Given the description of an element on the screen output the (x, y) to click on. 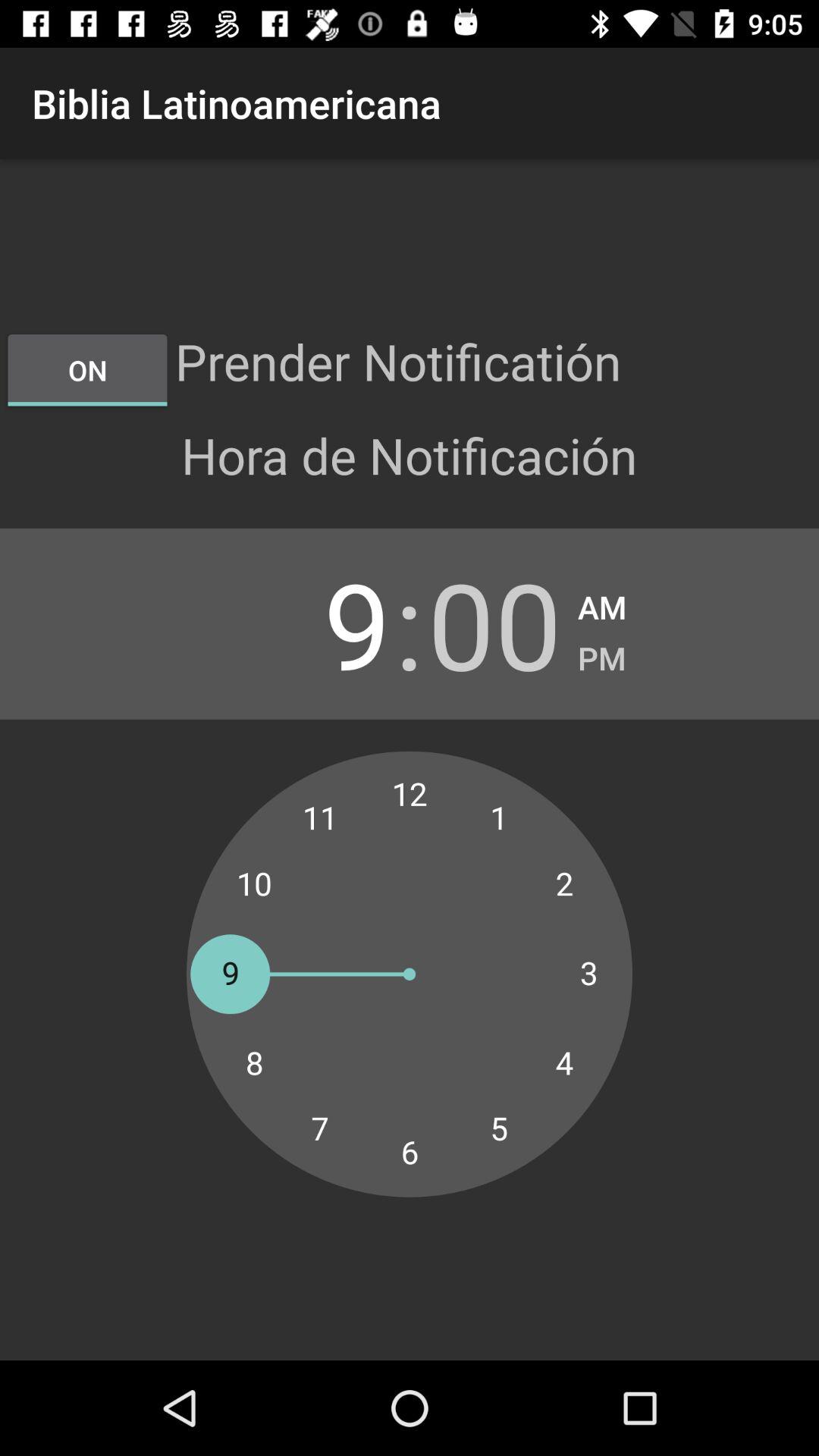
launch the item to the right of the 00 (601, 602)
